Given the description of an element on the screen output the (x, y) to click on. 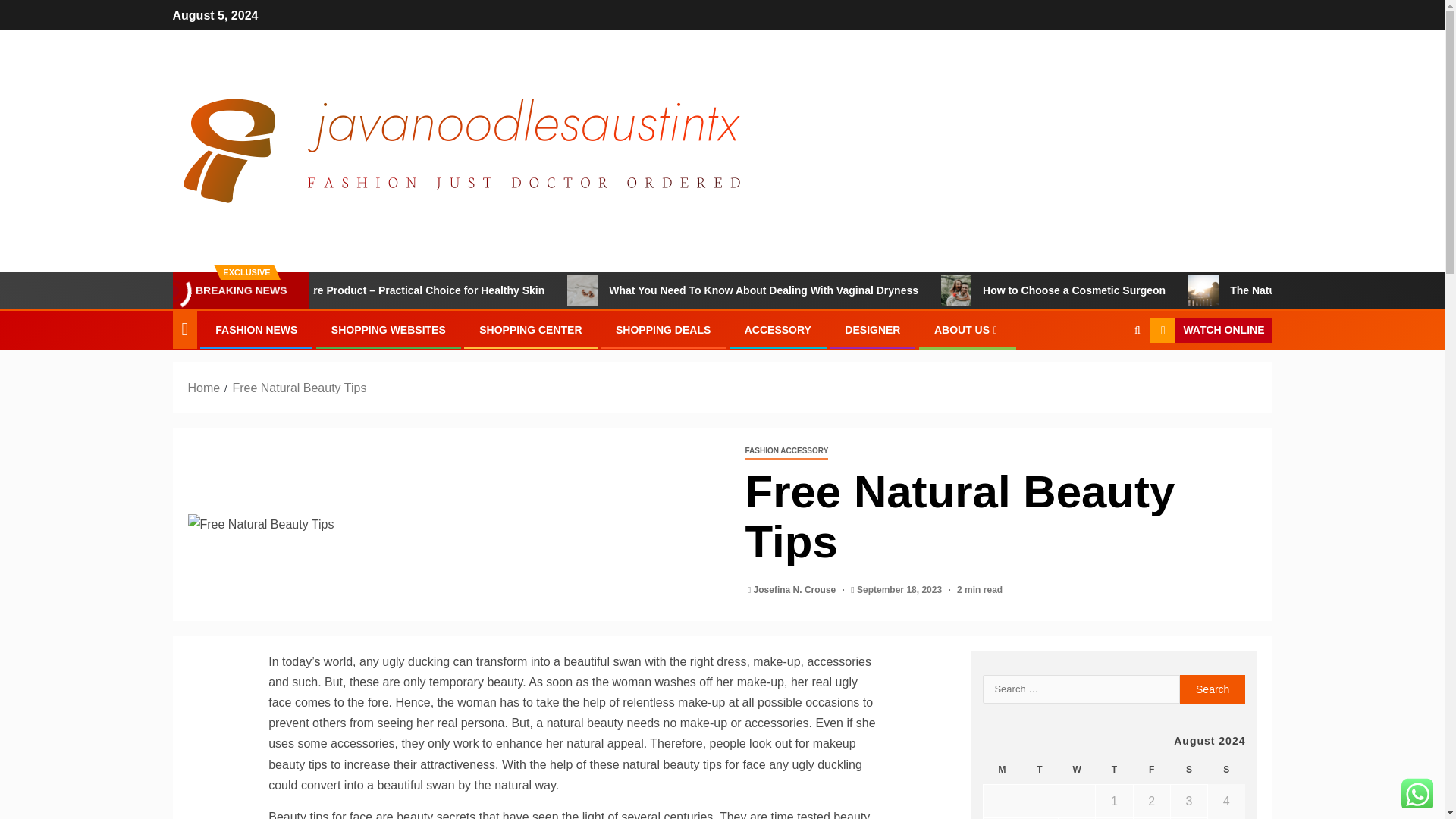
What You Need To Know About Dealing With Vaginal Dryness (872, 290)
Home (204, 387)
What You Need To Know About Dealing With Vaginal Dryness (656, 290)
SHOPPING DEALS (662, 329)
DESIGNER (871, 329)
How to Choose a Cosmetic Surgeon (1181, 290)
Free Natural Beauty Tips (298, 387)
Search (1107, 376)
The Natural Beauty Products for Looking Younger (1275, 290)
Josefina N. Crouse (796, 589)
Search (1212, 688)
FASHION NEWS (256, 329)
WATCH ONLINE (1210, 330)
Free Natural Beauty Tips (454, 524)
ABOUT US (967, 329)
